Given the description of an element on the screen output the (x, y) to click on. 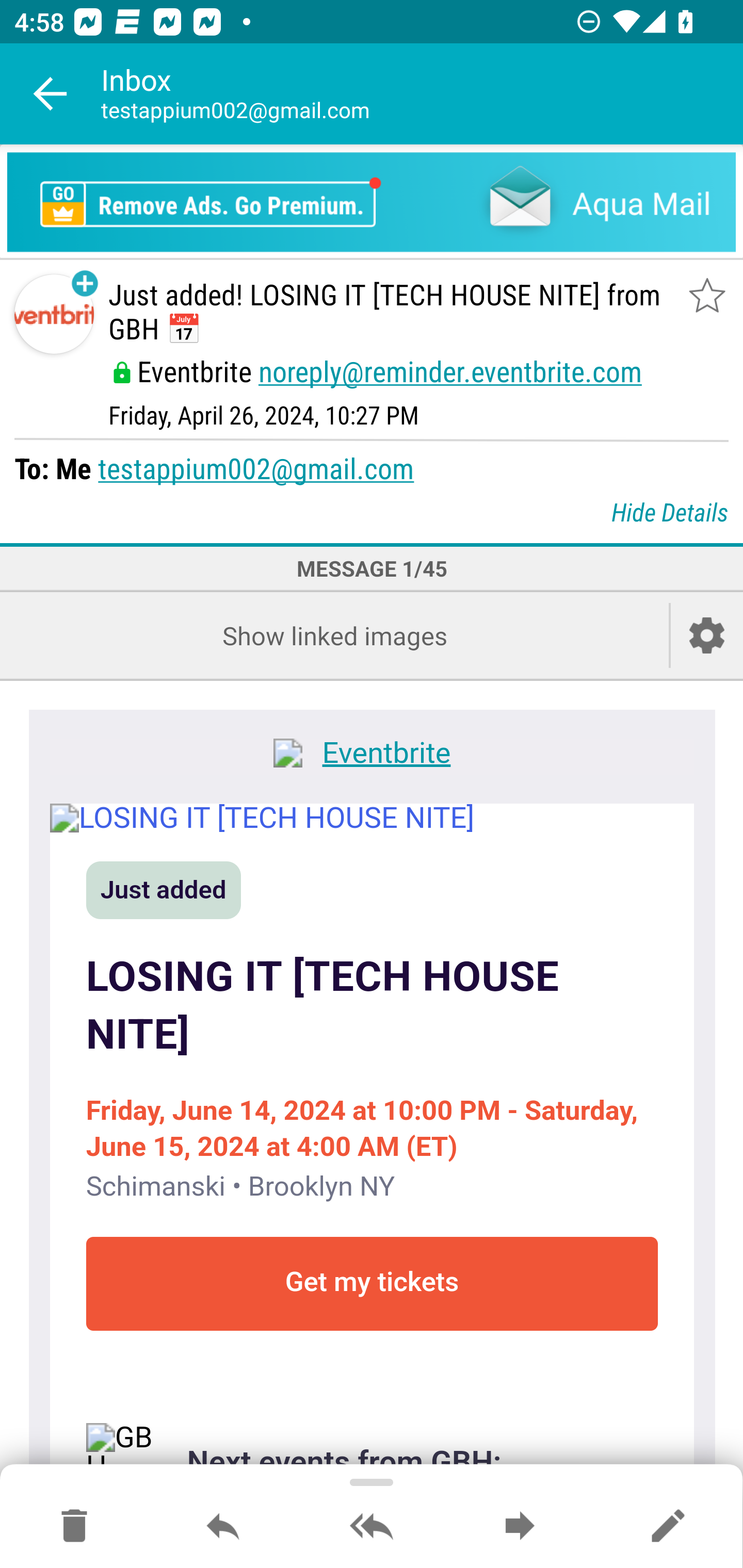
Navigate up (50, 93)
Inbox testappium002@gmail.com (422, 93)
Sender contact button (53, 314)
Show linked images (334, 635)
Account setup (706, 635)
Move to Deleted (74, 1527)
Reply (222, 1527)
Reply all (371, 1527)
Forward (519, 1527)
Reply as new (667, 1527)
